Given the description of an element on the screen output the (x, y) to click on. 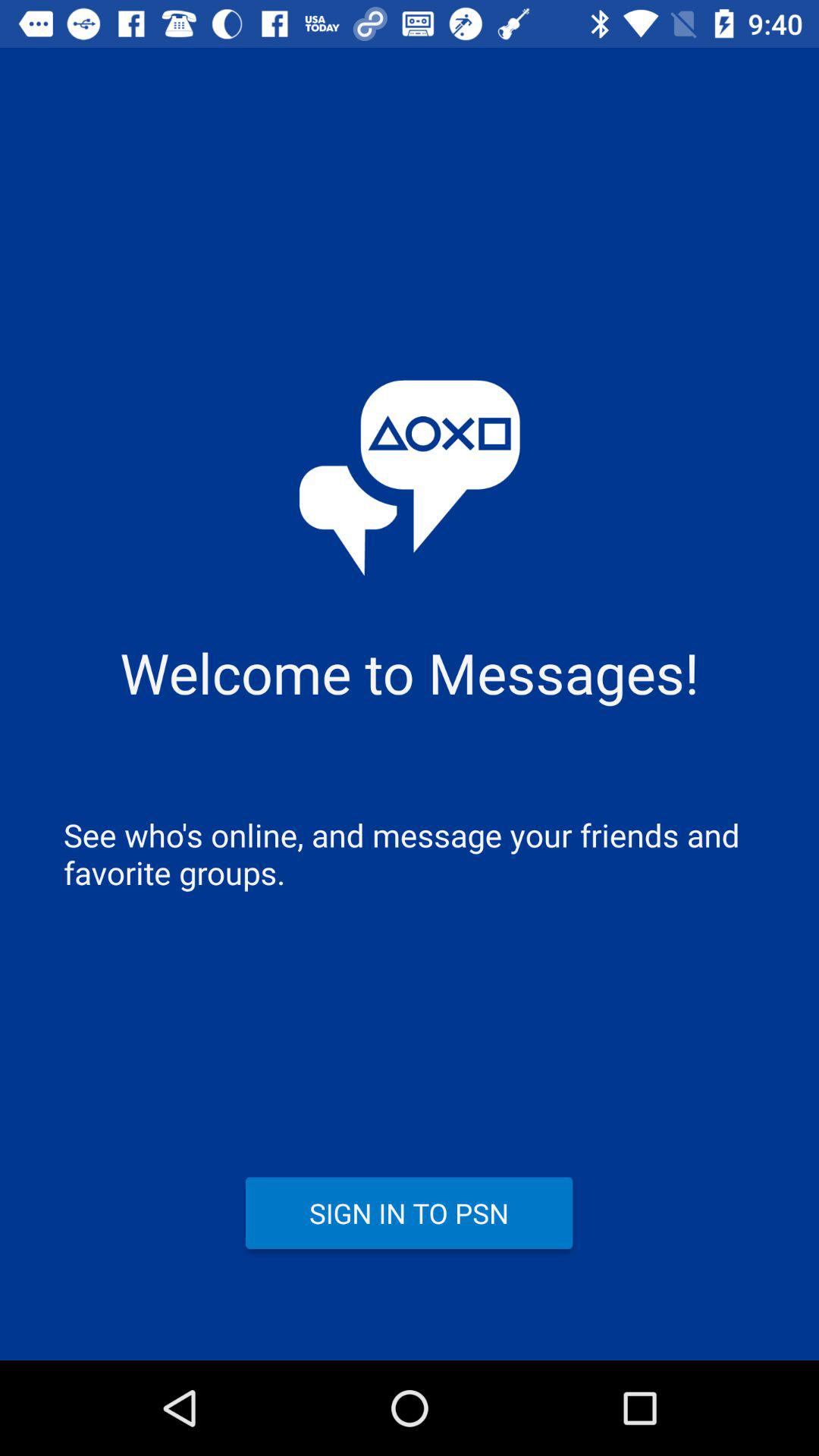
open item below the see who s icon (408, 1212)
